Given the description of an element on the screen output the (x, y) to click on. 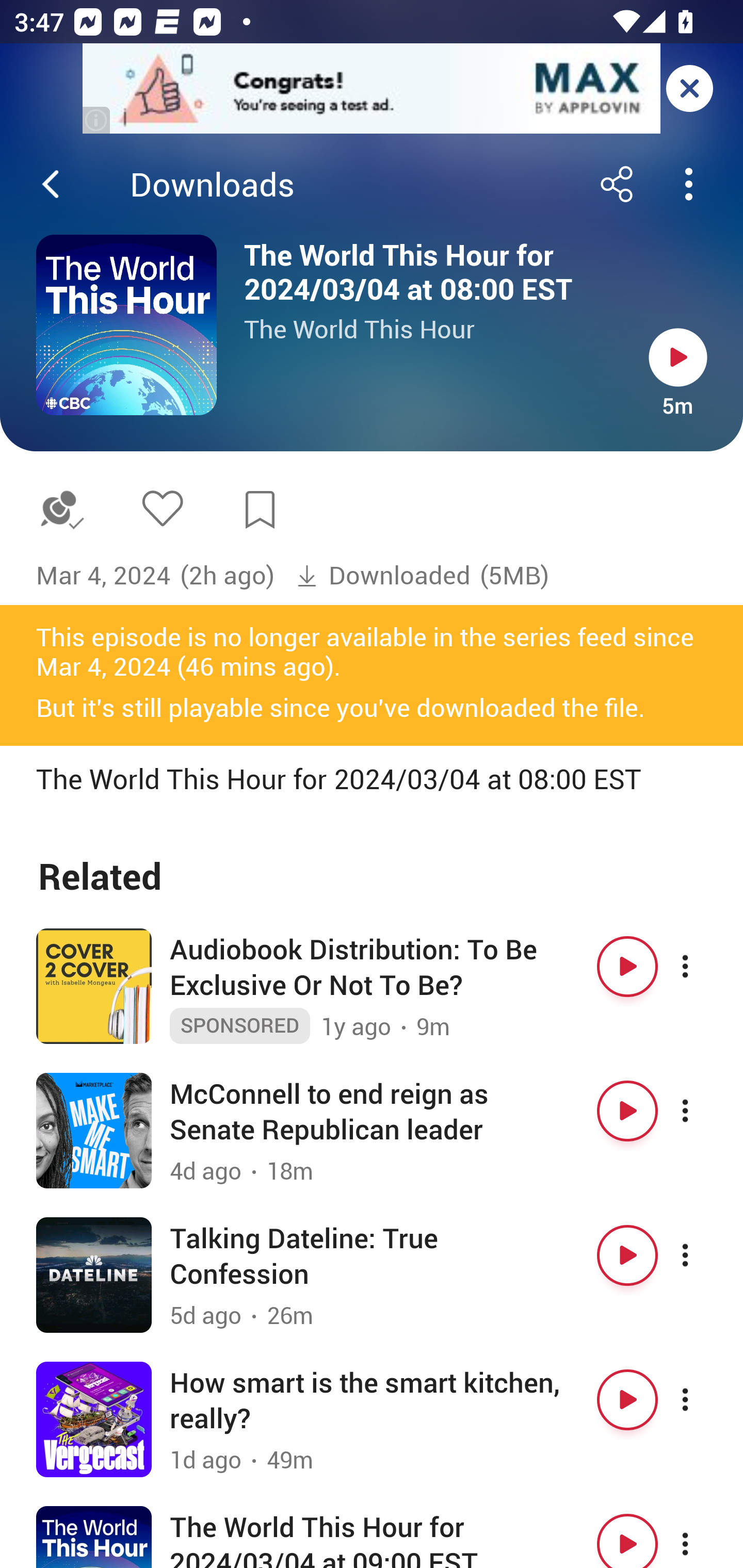
app-monetization (371, 88)
(i) (96, 119)
Back (50, 184)
Open series (126, 325)
Play button (677, 357)
Like (161, 507)
Remove episode from Play Later (60, 510)
New bookmark … (259, 510)
Downloaded (383, 576)
Play button (627, 966)
More options (703, 966)
Play button (627, 1110)
More options (703, 1110)
Play button (627, 1255)
More options (703, 1255)
Play button (627, 1399)
More options (703, 1399)
Play button (627, 1536)
More options (703, 1536)
